Given the description of an element on the screen output the (x, y) to click on. 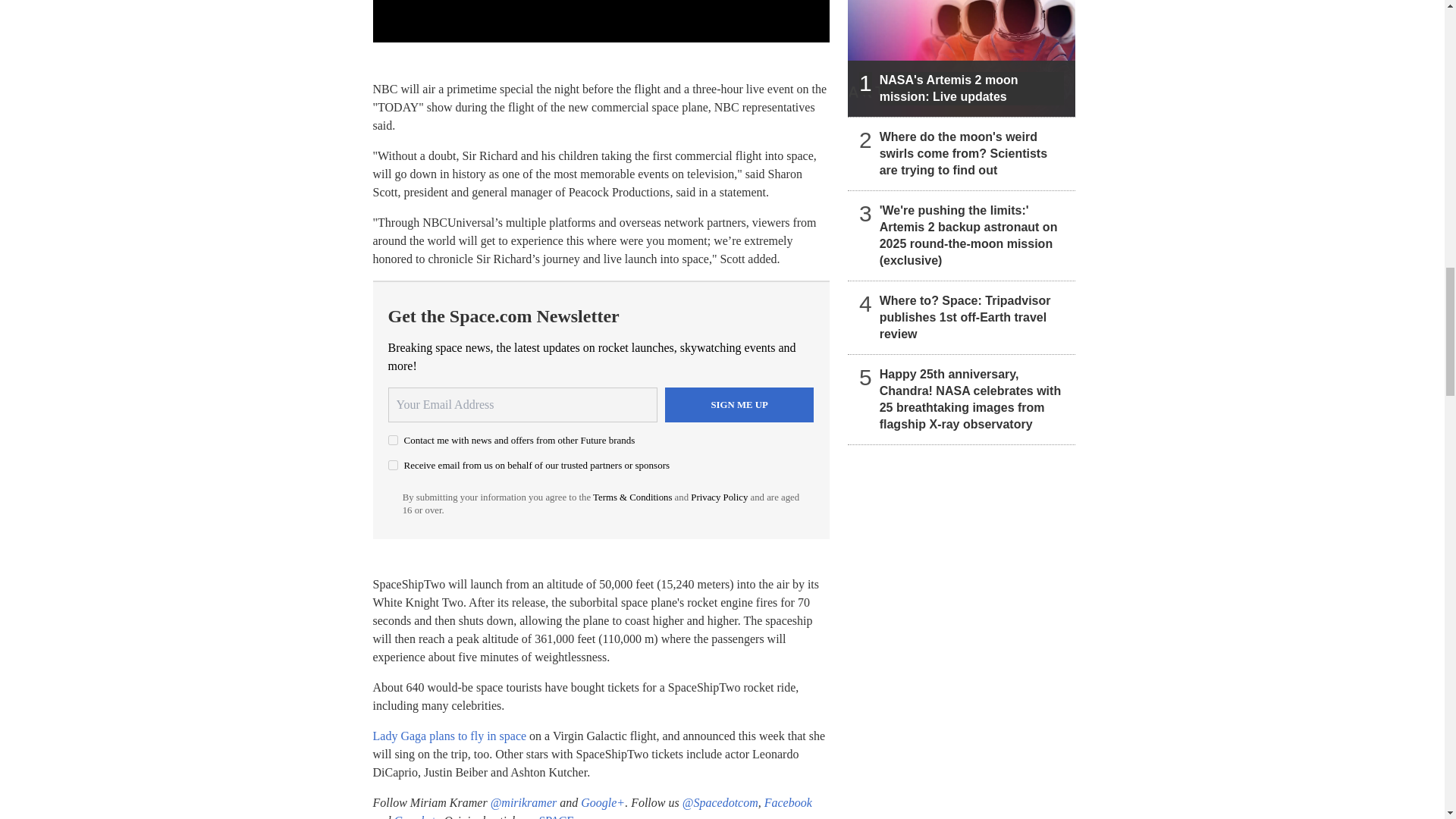
on (392, 465)
Sign me up (739, 404)
on (392, 439)
